Given the description of an element on the screen output the (x, y) to click on. 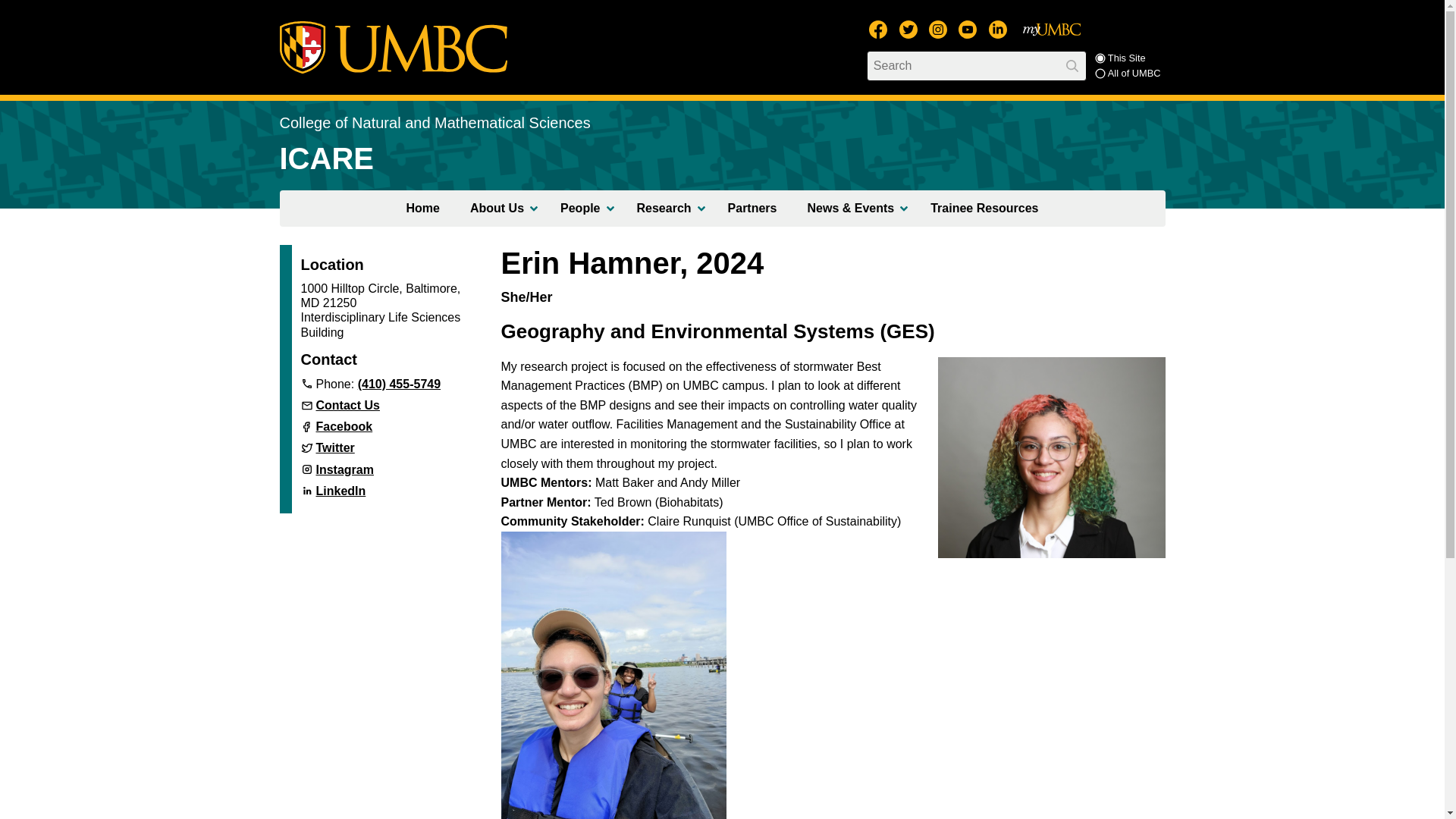
Home (422, 208)
About Us (499, 208)
People (582, 208)
ICARE (326, 158)
Toggle submenu for People (610, 208)
Research (667, 208)
Partners (752, 208)
Toggle submenu for About Us (533, 208)
Toggle submenu for Research (700, 208)
College of Natural and Mathematical Sciences (434, 122)
